Given the description of an element on the screen output the (x, y) to click on. 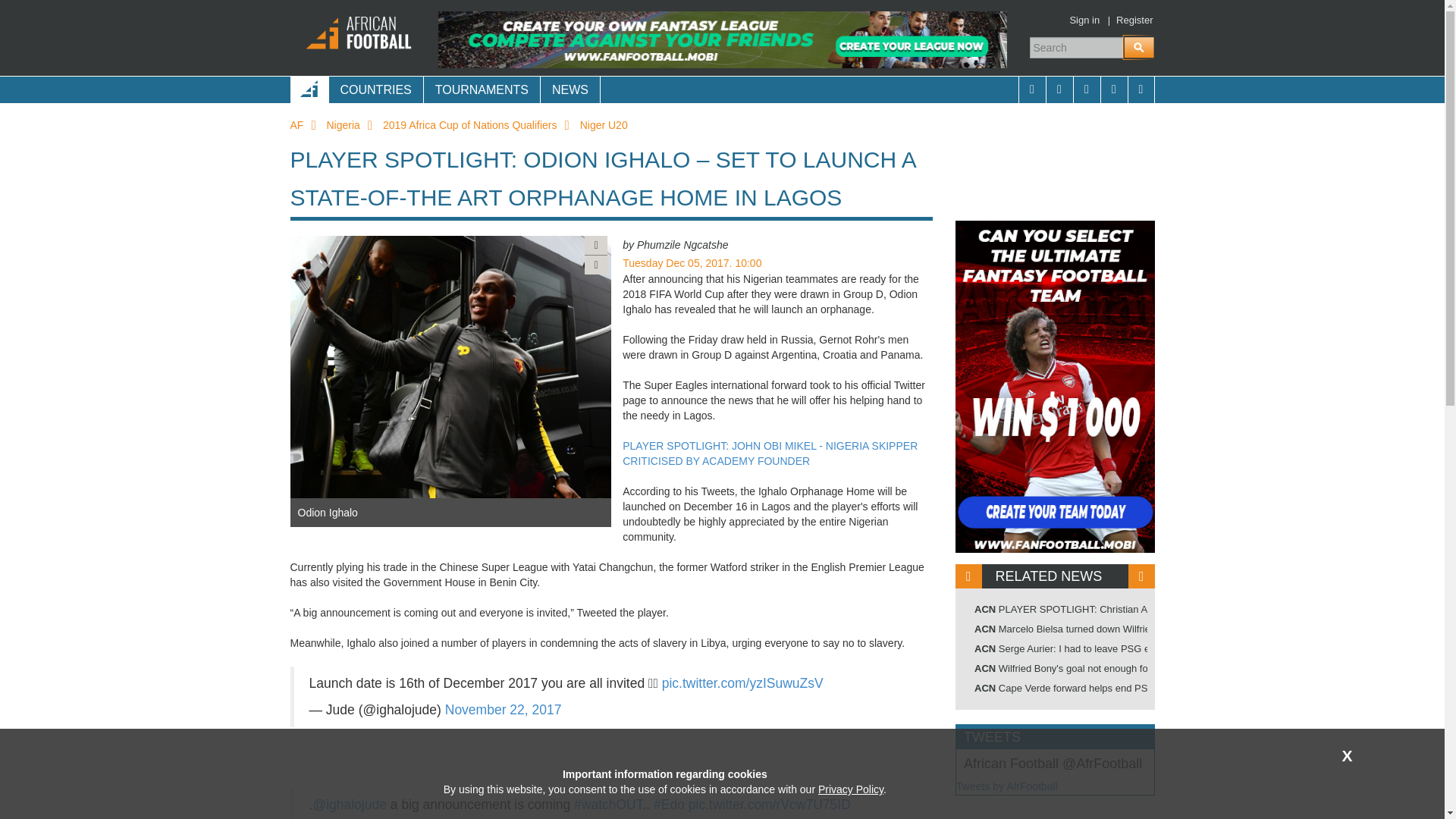
TOURNAMENTS (481, 89)
Sign in (1083, 19)
Register (1134, 19)
NEWS (569, 89)
COUNTRIES (374, 89)
